Given the description of an element on the screen output the (x, y) to click on. 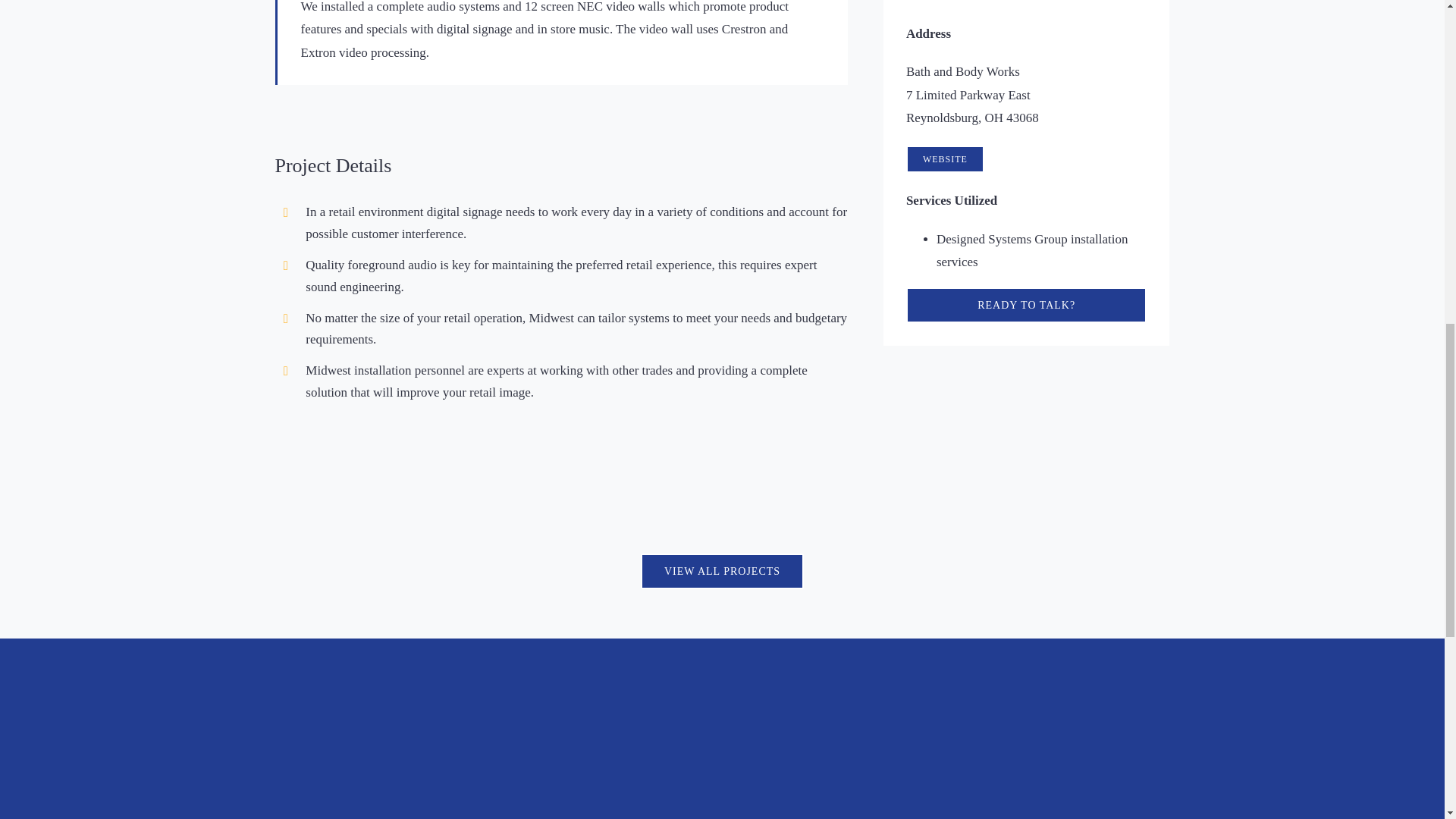
VIEW ALL PROJECTS (721, 570)
WEBSITE (944, 158)
READY TO TALK? (1026, 304)
